Given the description of an element on the screen output the (x, y) to click on. 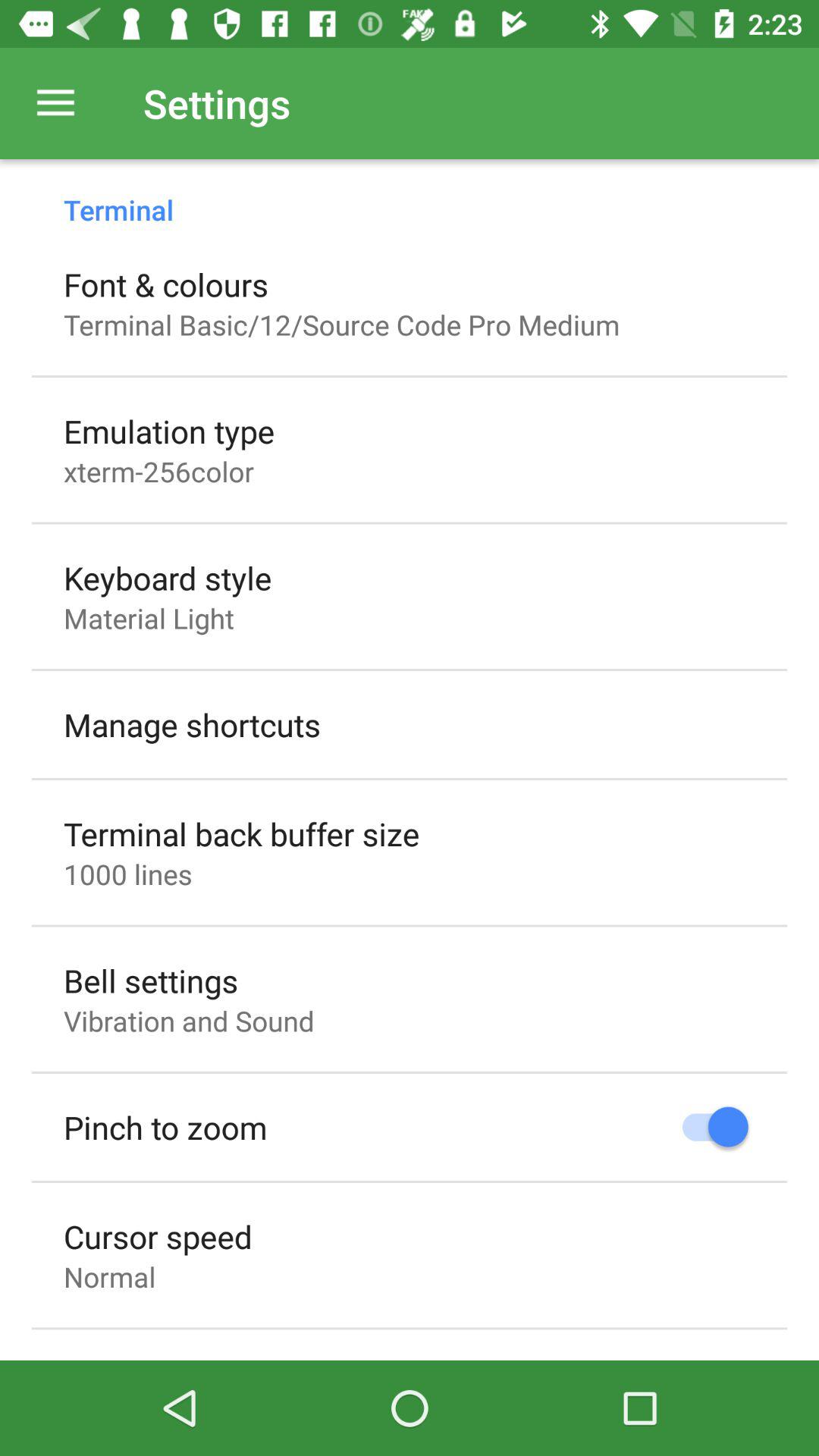
launch the icon below the manage shortcuts icon (241, 833)
